Given the description of an element on the screen output the (x, y) to click on. 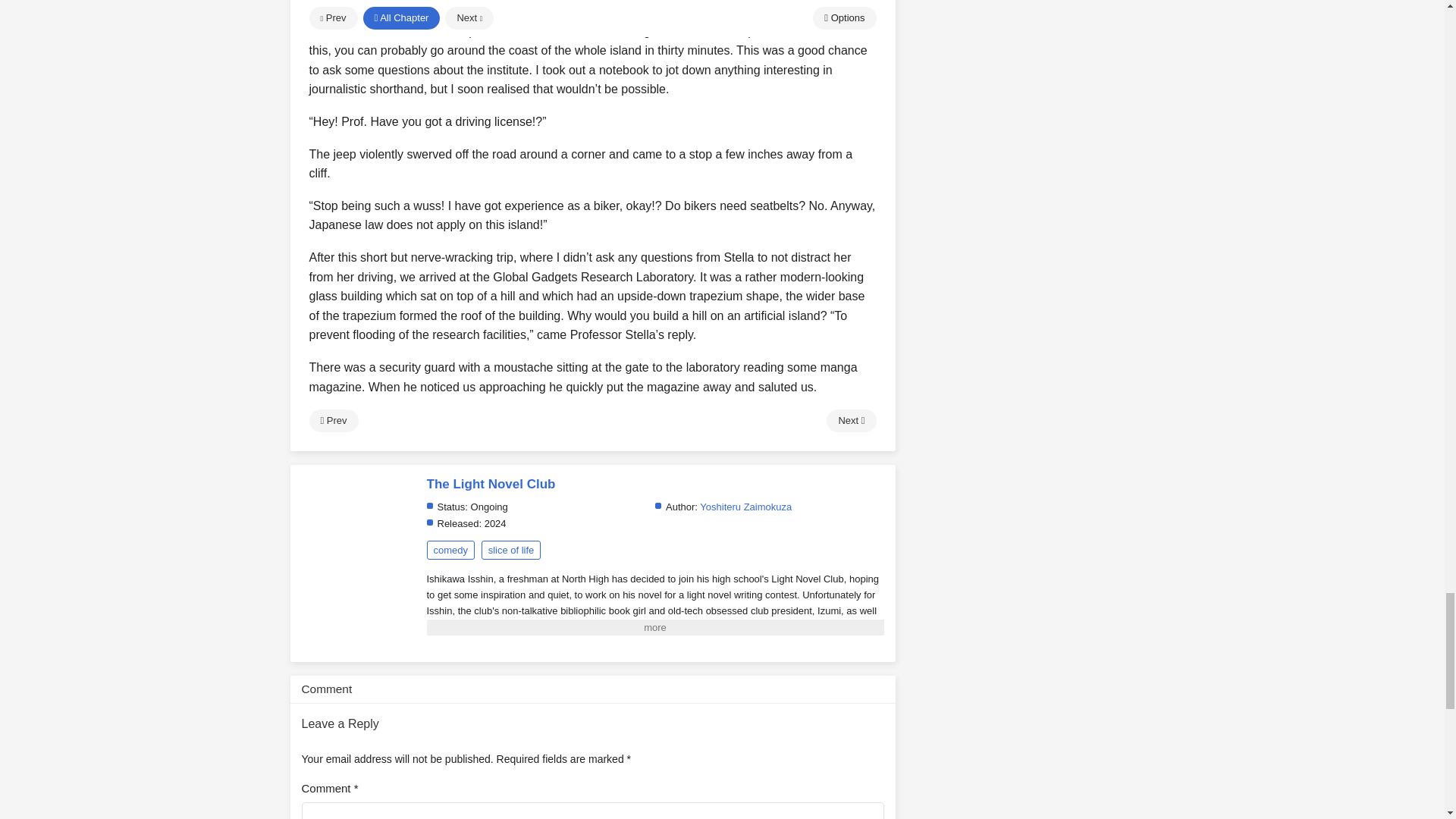
Next (851, 420)
Yoshiteru Zaimokuza (746, 506)
slice of life (511, 549)
comedy (450, 549)
Prev (333, 420)
